Given the description of an element on the screen output the (x, y) to click on. 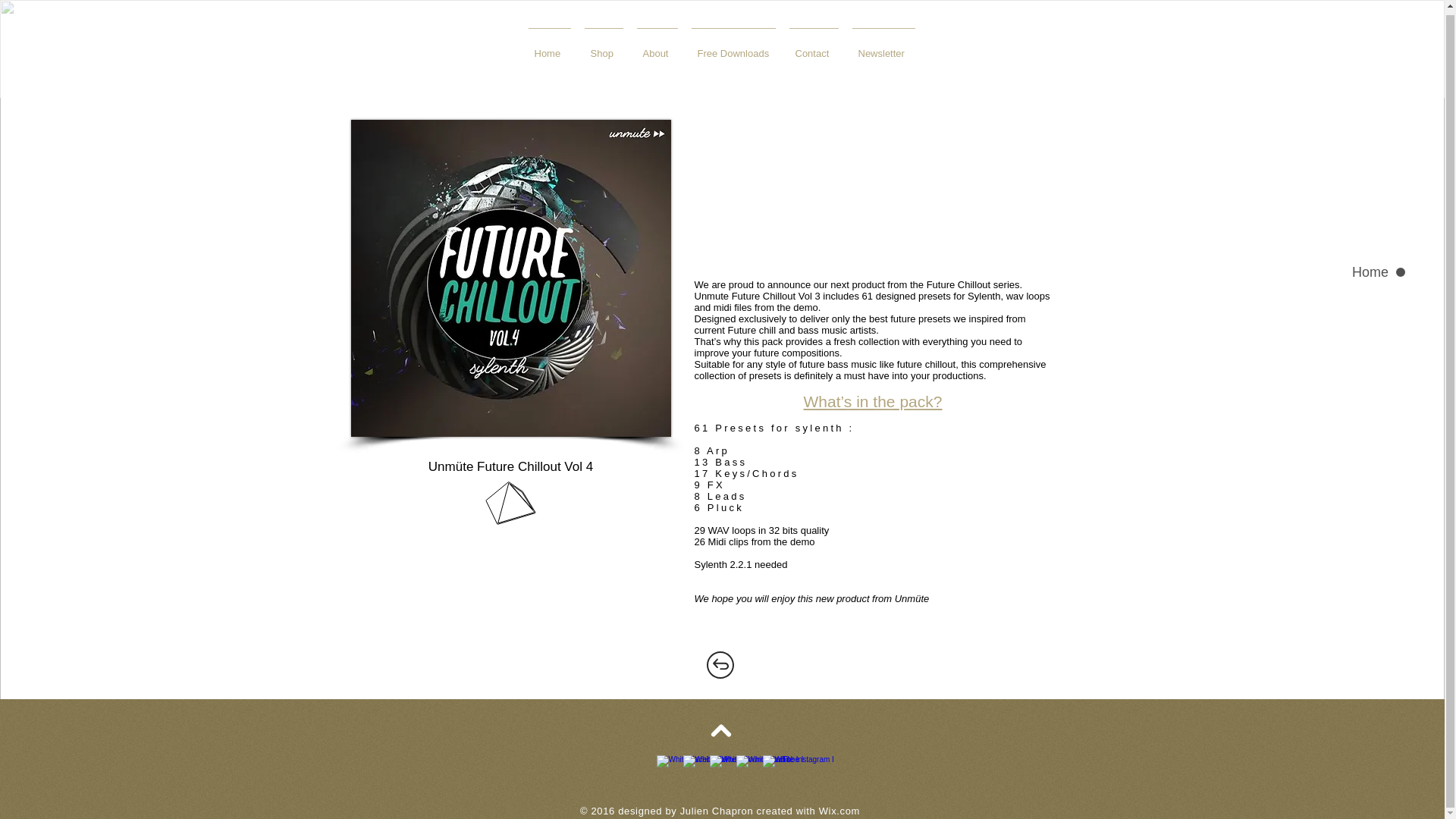
About (656, 46)
Free Downloads (732, 46)
Contact (814, 46)
Newsletter (882, 46)
Wix.com (839, 809)
Home (549, 46)
Home (1341, 267)
artworks-000149225353-165l7g-t500x500.jpg (509, 277)
Shop (604, 46)
